Given the description of an element on the screen output the (x, y) to click on. 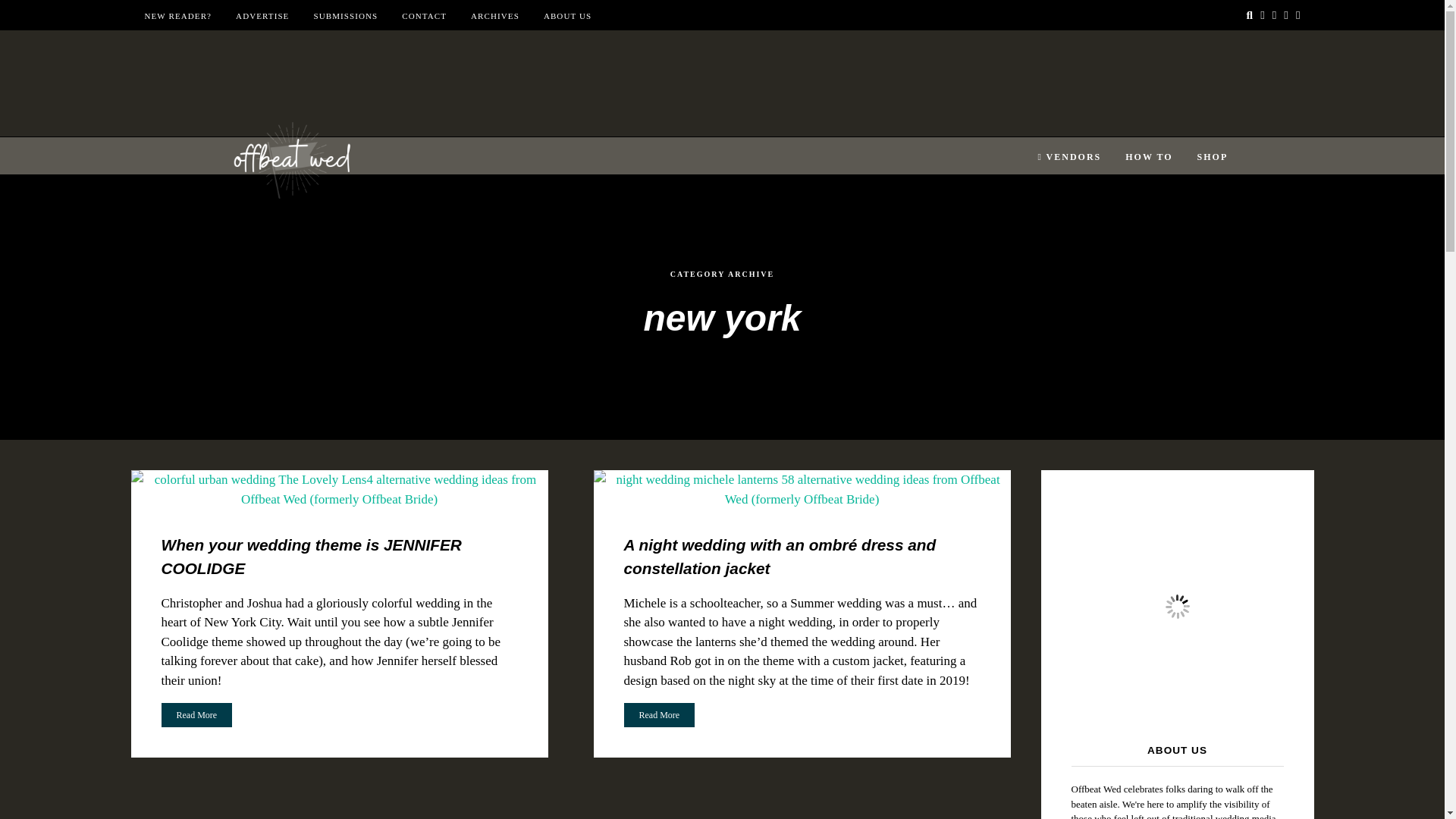
HOW TO (1148, 157)
ABOUT US (567, 15)
CONTACT (423, 15)
ADVERTISE (261, 15)
Read More (195, 714)
When your wedding theme is JENNIFER COOLIDGE (310, 556)
SUBMISSIONS (345, 15)
Read More (658, 713)
Read More (195, 713)
NEW READER? (177, 15)
